Given the description of an element on the screen output the (x, y) to click on. 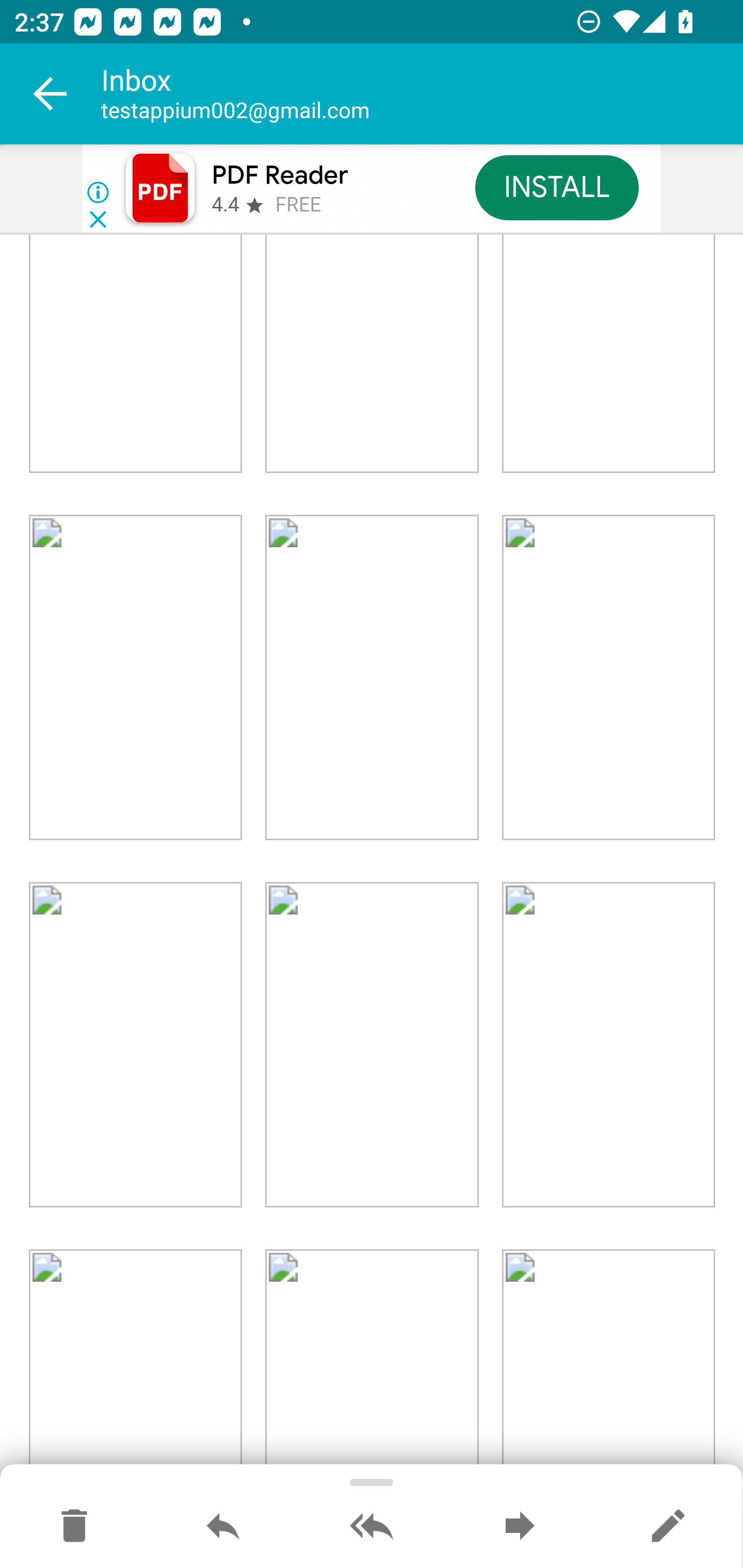
Navigate up (50, 93)
Inbox testappium002@gmail.com (422, 93)
INSTALL (556, 187)
PDF Reader (279, 175)
4.4 (224, 204)
FREE (298, 204)
mbs_landing_goods (135, 678)
mbs_landing_goods (371, 678)
mbs_landing_goods (608, 678)
mbs_landing_goods (135, 1044)
mbs_landing_goods (371, 1044)
mbs_landing_goods (608, 1044)
mbs_landing_goods (135, 1360)
mbs_landing_goods (371, 1360)
mbs_landing_goods (608, 1360)
Move to Deleted (74, 1527)
Reply (222, 1527)
Reply all (371, 1527)
Forward (519, 1527)
Reply as new (667, 1527)
